Given the description of an element on the screen output the (x, y) to click on. 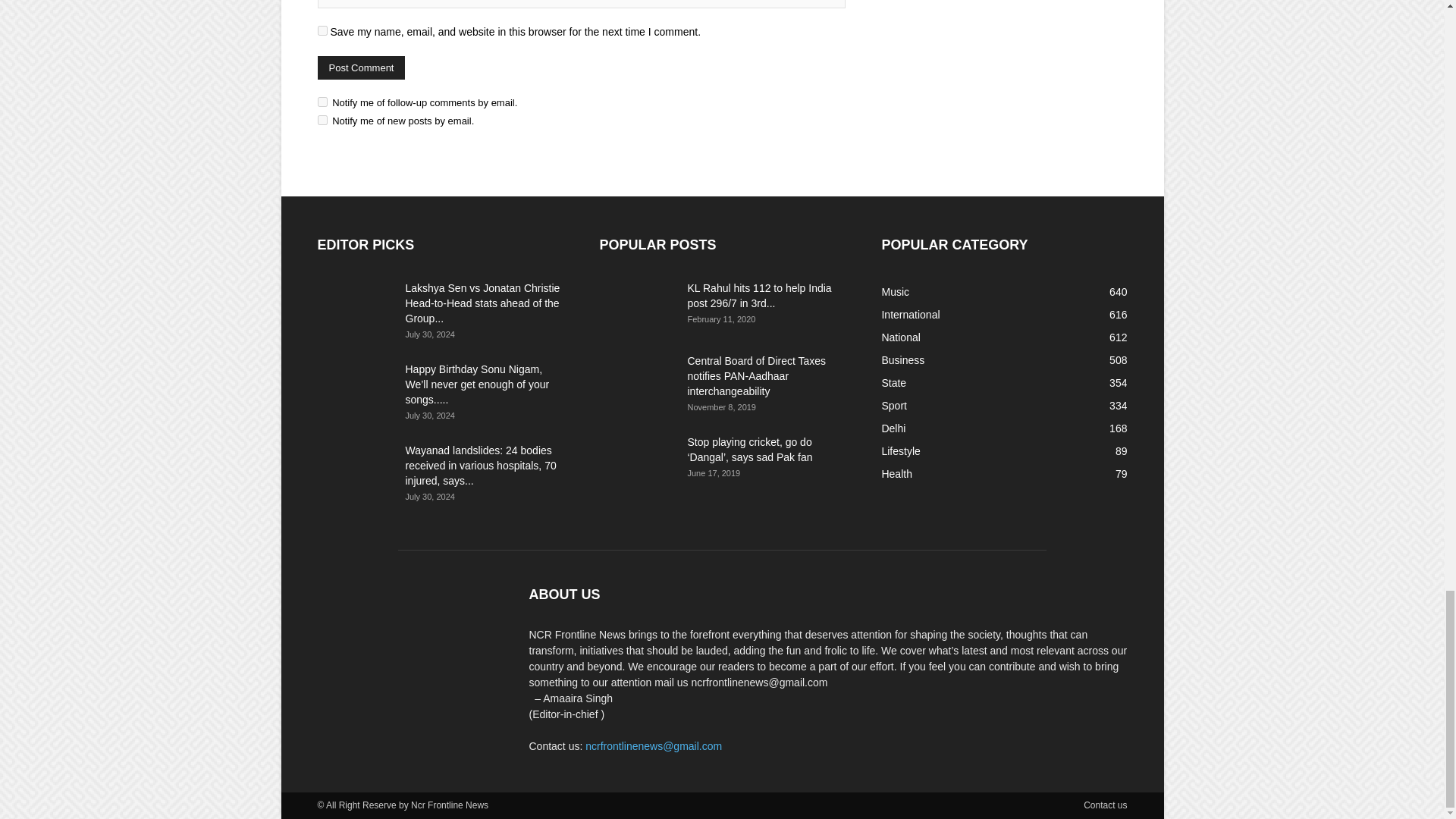
subscribe (321, 102)
subscribe (321, 120)
yes (321, 30)
Post Comment (360, 67)
